Given the description of an element on the screen output the (x, y) to click on. 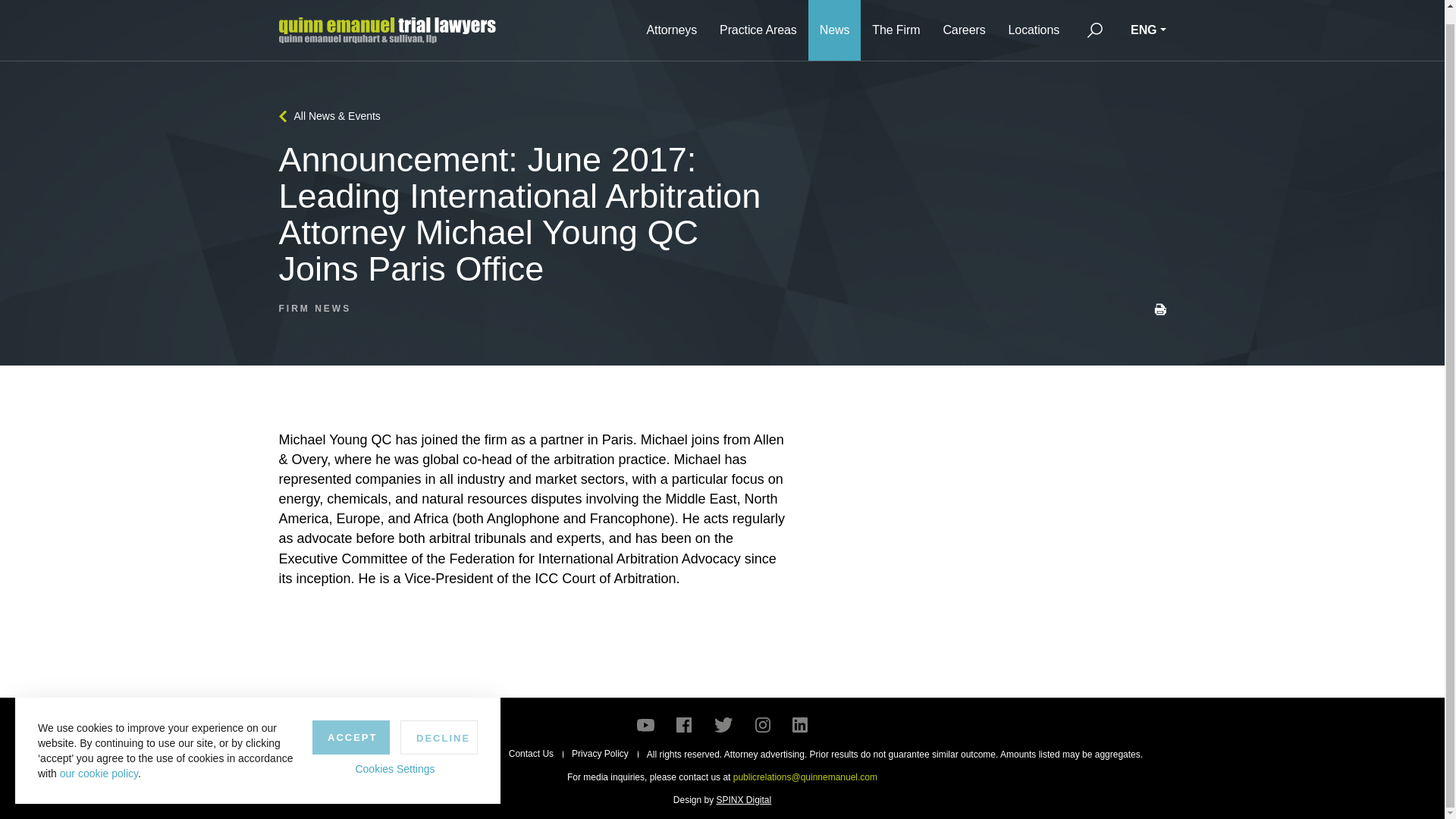
Practice Areas (757, 23)
Attorneys (670, 23)
Locations (1034, 23)
Practice Areas (757, 23)
News (834, 23)
Attorneys (670, 23)
The Firm (895, 23)
